Given the description of an element on the screen output the (x, y) to click on. 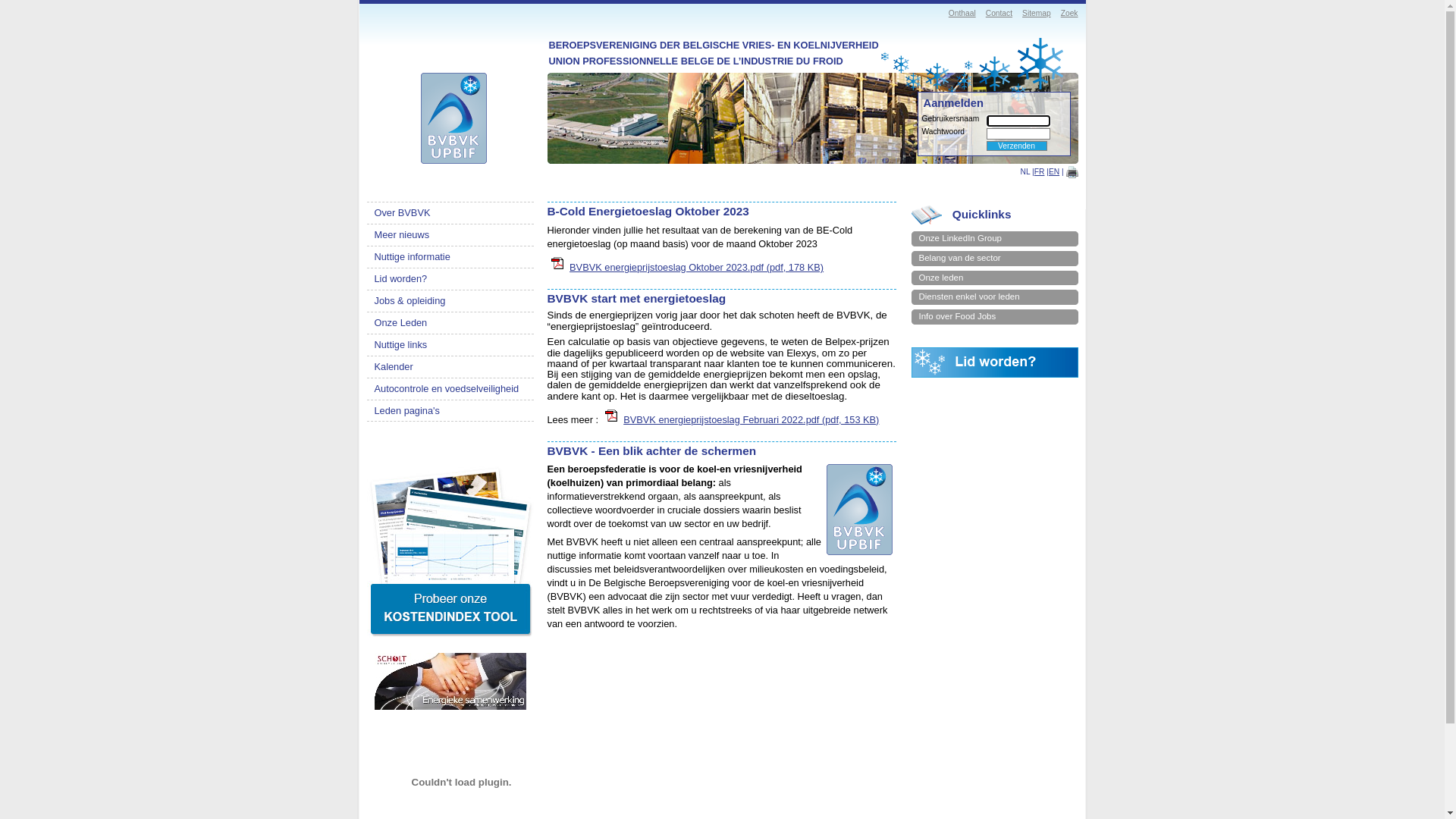
Autocontrole en voedselveiligheid Element type: text (450, 388)
Belang van de sector Element type: text (994, 258)
BVBVK energieprijstoeslag Februari 2022.pdf (pdf, 153 KB) Element type: text (750, 419)
NL Element type: text (1025, 171)
Over BVBVK Element type: text (450, 212)
BVBVK energieprijstoeslag Oktober 2023.pdf (pdf, 178 KB) Element type: text (696, 267)
Info over Food Jobs Element type: text (994, 316)
Jobs & opleiding Element type: text (450, 300)
Onze leden Element type: text (994, 277)
Onze LinkedIn Group Element type: text (994, 238)
FR Element type: text (1039, 171)
Scholt NL Element type: hover (450, 680)
Onze Leden Element type: text (450, 322)
EN Element type: text (1053, 171)
BEROEPSVERENIGING DER BELGISCHE VRIES- EN KOELNIJVERHEID Element type: hover (859, 509)
Leden pagina's Element type: text (450, 410)
Diensten enkel voor leden Element type: text (994, 296)
Contact Element type: text (998, 13)
Lid worden? Element type: text (450, 278)
Verzenden Element type: text (1015, 145)
Sitemap Element type: text (1036, 13)
Lid worden? Element type: hover (994, 373)
Zoek Element type: text (1069, 13)
Afdrukken Element type: hover (1072, 172)
Nuttige informatie Element type: text (450, 256)
Meer nieuws Element type: text (450, 234)
Nuttige links Element type: text (450, 344)
Kostenindex Tool Element type: hover (450, 548)
Onthaal Element type: text (961, 13)
